Given the description of an element on the screen output the (x, y) to click on. 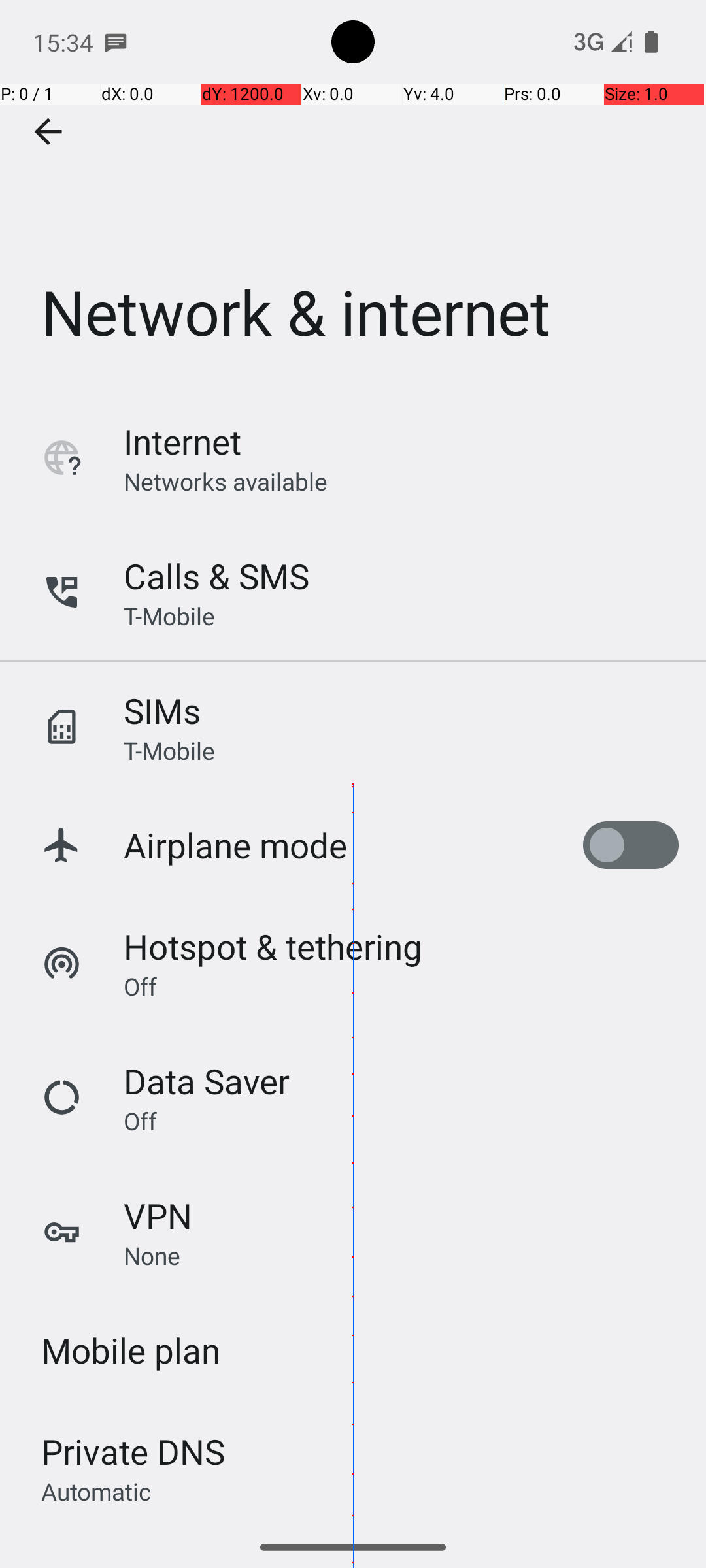
Internet Element type: android.widget.TextView (182, 441)
Networks available Element type: android.widget.TextView (225, 480)
Calls & SMS Element type: android.widget.TextView (216, 575)
T-Mobile Element type: android.widget.TextView (169, 615)
SIMs Element type: android.widget.TextView (161, 710)
Airplane mode Element type: android.widget.TextView (235, 844)
Hotspot & tethering Element type: android.widget.TextView (272, 946)
Data Saver Element type: android.widget.TextView (206, 1080)
VPN Element type: android.widget.TextView (157, 1215)
Mobile plan Element type: android.widget.TextView (130, 1349)
Private DNS Element type: android.widget.TextView (132, 1451)
Automatic Element type: android.widget.TextView (96, 1490)
